Given the description of an element on the screen output the (x, y) to click on. 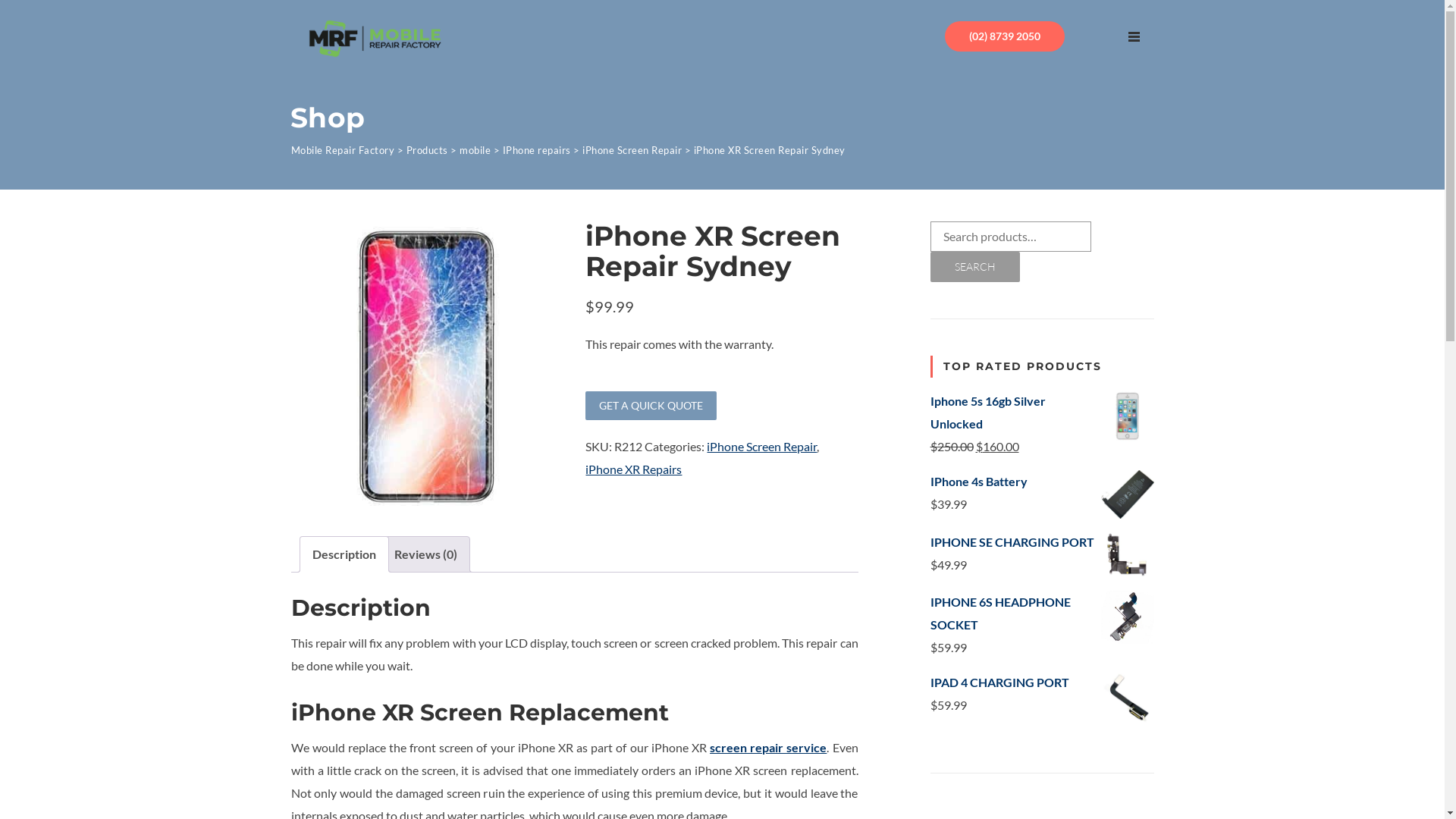
IPhone 4s Battery Element type: text (1041, 481)
iPhone XR Repairs Element type: text (633, 468)
(02) 8739 2050 Element type: text (1004, 35)
iPhone Screen Repair Element type: text (761, 446)
mobile Element type: text (474, 150)
iphone 5s silver Element type: hover (1127, 415)
TOGGLE NAVIGATION MENU Element type: text (1133, 36)
Description Element type: text (344, 553)
Reviews (0) Element type: text (425, 553)
IPHONE SE CHARGING PORT Element type: text (1041, 541)
Iphone 5s 16gb Silver Unlocked Element type: text (1041, 412)
Products Element type: text (427, 150)
SEARCH Element type: text (974, 266)
Mobile Repair Factory Element type: text (343, 150)
IPHONE 6S HEADPHONE SOCKET Element type: text (1041, 613)
IPAD 4 CHARGING PORT Element type: text (1041, 682)
iphone 6s charging port Element type: hover (1127, 616)
iphone battery replacement Element type: hover (1127, 494)
ipad 4 screen replacement Element type: hover (1127, 697)
screen repair service Element type: text (767, 747)
iphone xr glass replacement Element type: hover (427, 366)
iphone 5s charger port Element type: hover (1127, 554)
(02) 8739 2050 Element type: text (1004, 36)
IPhone repairs Element type: text (536, 150)
iPhone Screen Repair Element type: text (631, 150)
